Given the description of an element on the screen output the (x, y) to click on. 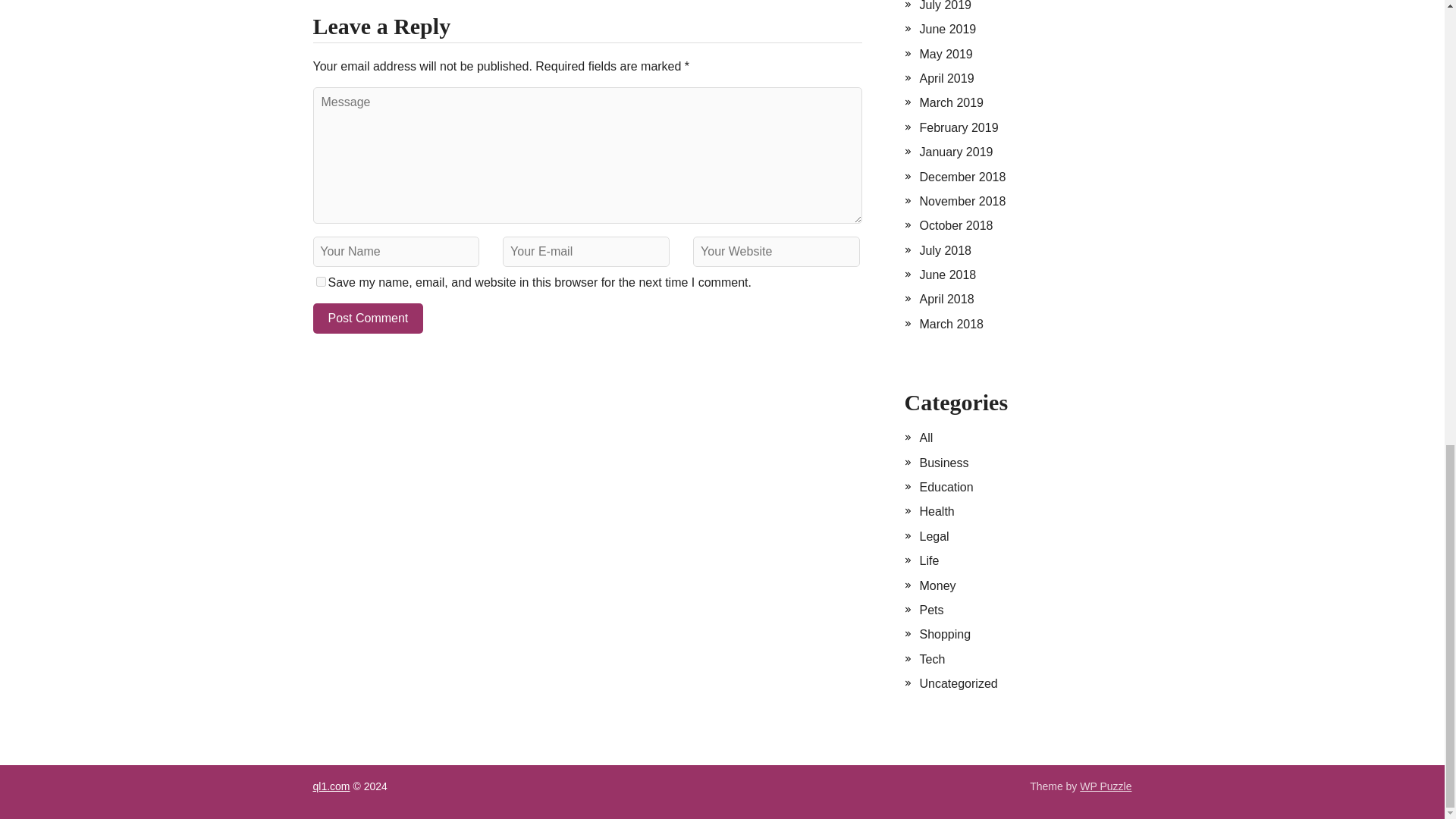
Post Comment (368, 318)
June 2019 (946, 29)
July 2019 (944, 5)
Post Comment (368, 318)
yes (319, 281)
May 2019 (945, 53)
